Given the description of an element on the screen output the (x, y) to click on. 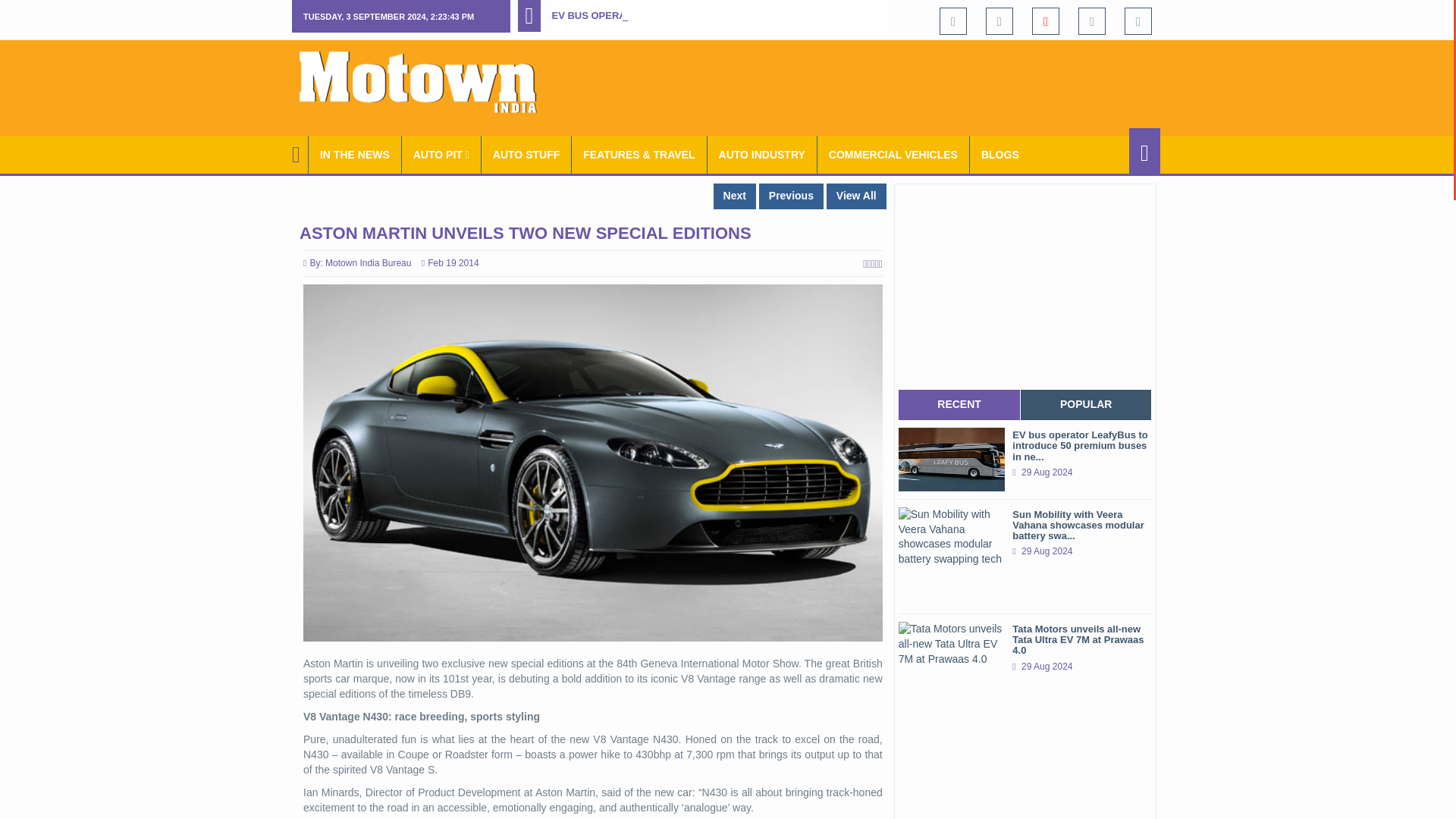
AUTO STUFF (526, 154)
Motown India on YouTube (1045, 21)
Advertisement (884, 85)
Motown India on Facebook (952, 21)
Previous (791, 196)
AUTO INDUSTRY by Motown India (761, 154)
IN THE NEWS (354, 154)
View All In The News - Motown India (354, 154)
AUTO INDUSTRY (761, 154)
View All - Motown India (856, 196)
